Given the description of an element on the screen output the (x, y) to click on. 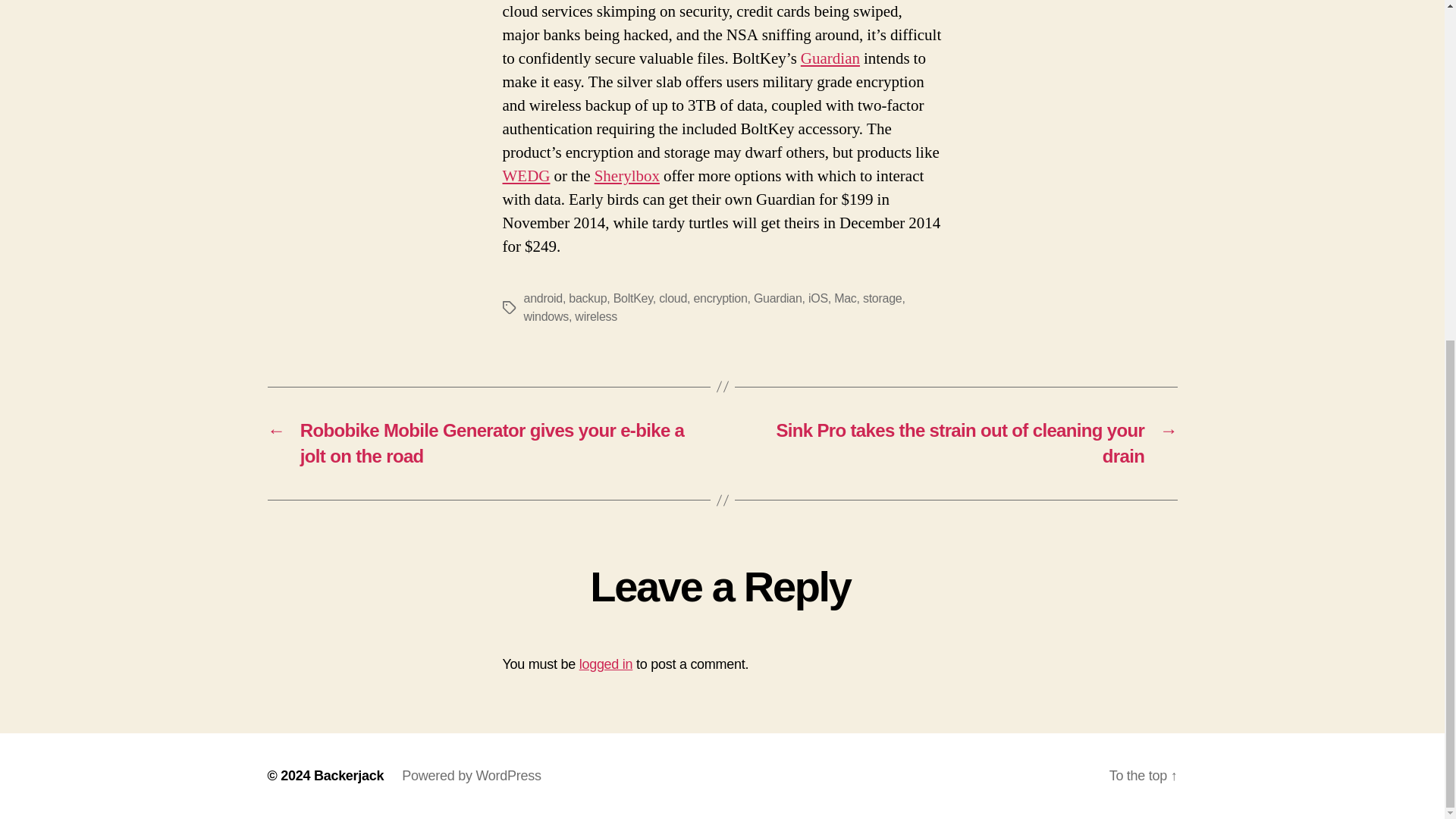
Powered by WordPress (470, 775)
logged in (606, 663)
wireless (596, 316)
Sherylbox (626, 176)
storage (882, 297)
windows (544, 316)
encryption (719, 297)
Mac (845, 297)
iOS (818, 297)
Backerjack (349, 775)
